Given the description of an element on the screen output the (x, y) to click on. 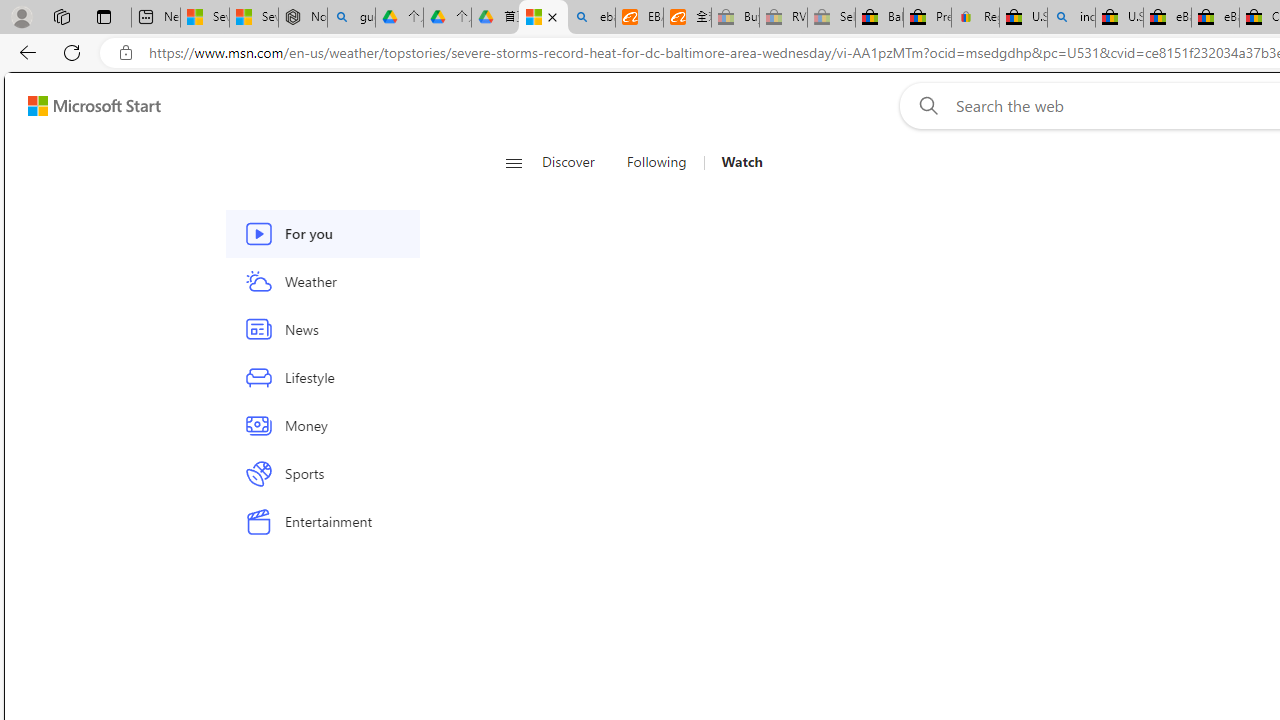
Class: button-glyph (513, 162)
Sell worldwide with eBay - Sleeping (831, 17)
Register: Create a personal eBay account (975, 17)
U.S. State Privacy Disclosures - eBay Inc. (1119, 17)
Open navigation menu (513, 162)
